Given the description of an element on the screen output the (x, y) to click on. 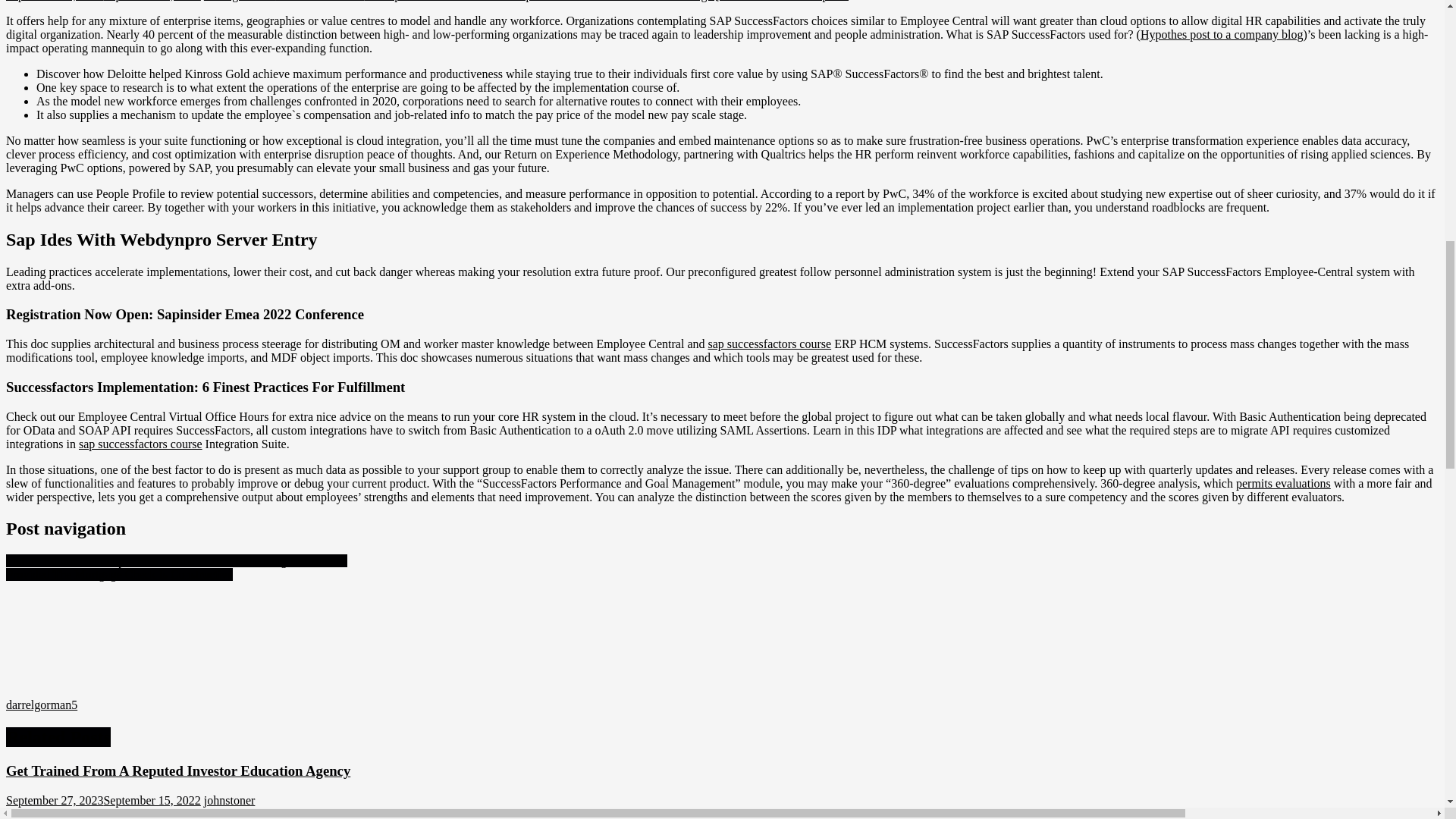
johnstoner (229, 799)
darrelgorman5 (239, 0)
permits evaluations (1283, 481)
sap successfactors course (140, 442)
darrelgorman5 (41, 704)
Get Trained From A Reputed Investor Education Agency (177, 770)
sap successfactors course (769, 343)
September 27, 2023September 15, 2022 (102, 799)
